Given the description of an element on the screen output the (x, y) to click on. 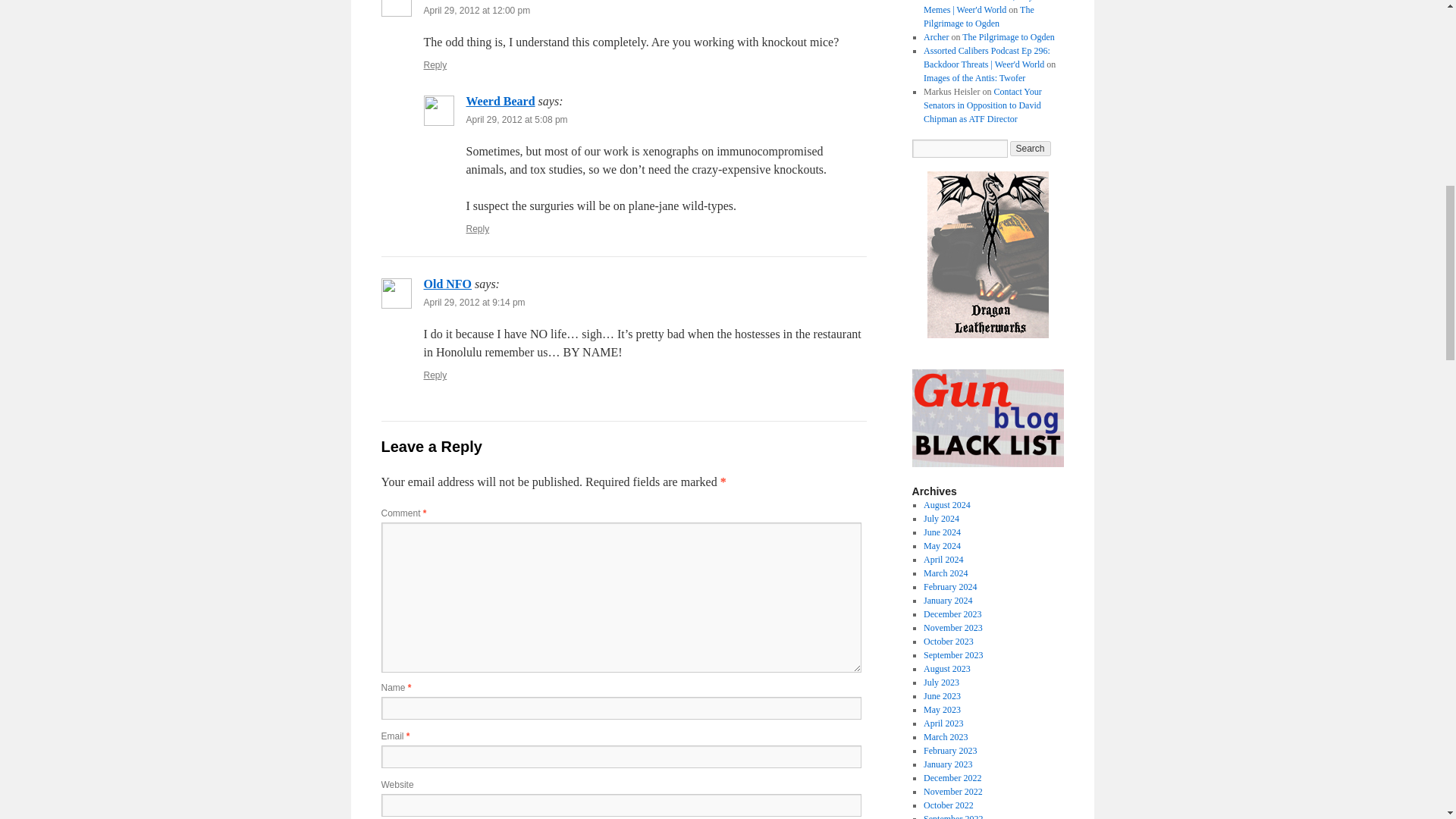
Reply (434, 375)
Old NFO (447, 283)
Weerd Beard (499, 101)
April 29, 2012 at 9:14 pm (473, 302)
Reply (477, 228)
Reply (434, 64)
Search (1030, 148)
April 29, 2012 at 5:08 pm (516, 119)
April 29, 2012 at 12:00 pm (476, 9)
